Given the description of an element on the screen output the (x, y) to click on. 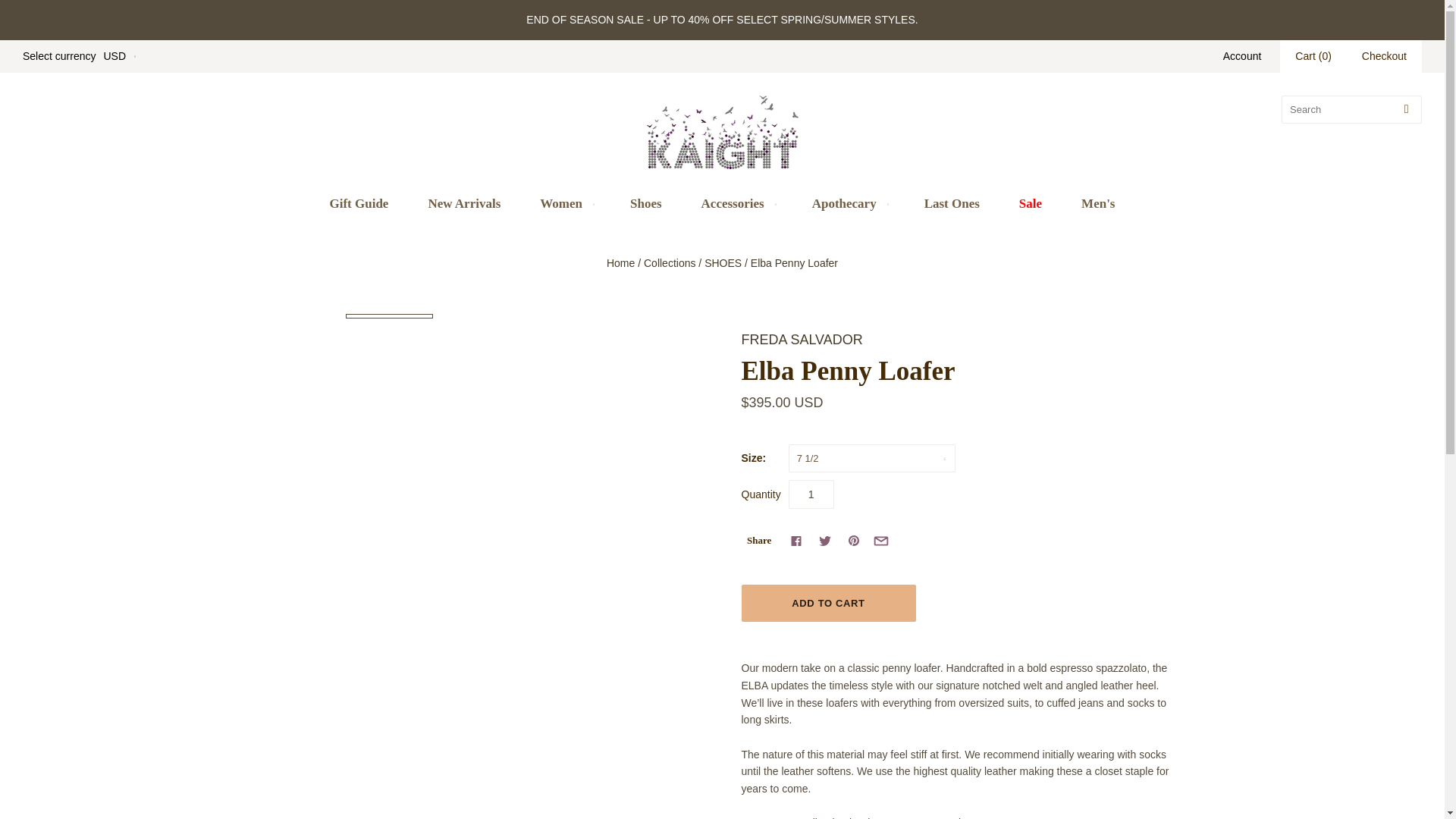
Last Ones (951, 203)
Sale (1029, 203)
Accessories (736, 203)
Home (620, 263)
Men's (1097, 203)
Apothecary (848, 203)
Collections (669, 263)
New Arrivals (463, 203)
Checkout (1384, 56)
Gift Guide (357, 203)
